Given the description of an element on the screen output the (x, y) to click on. 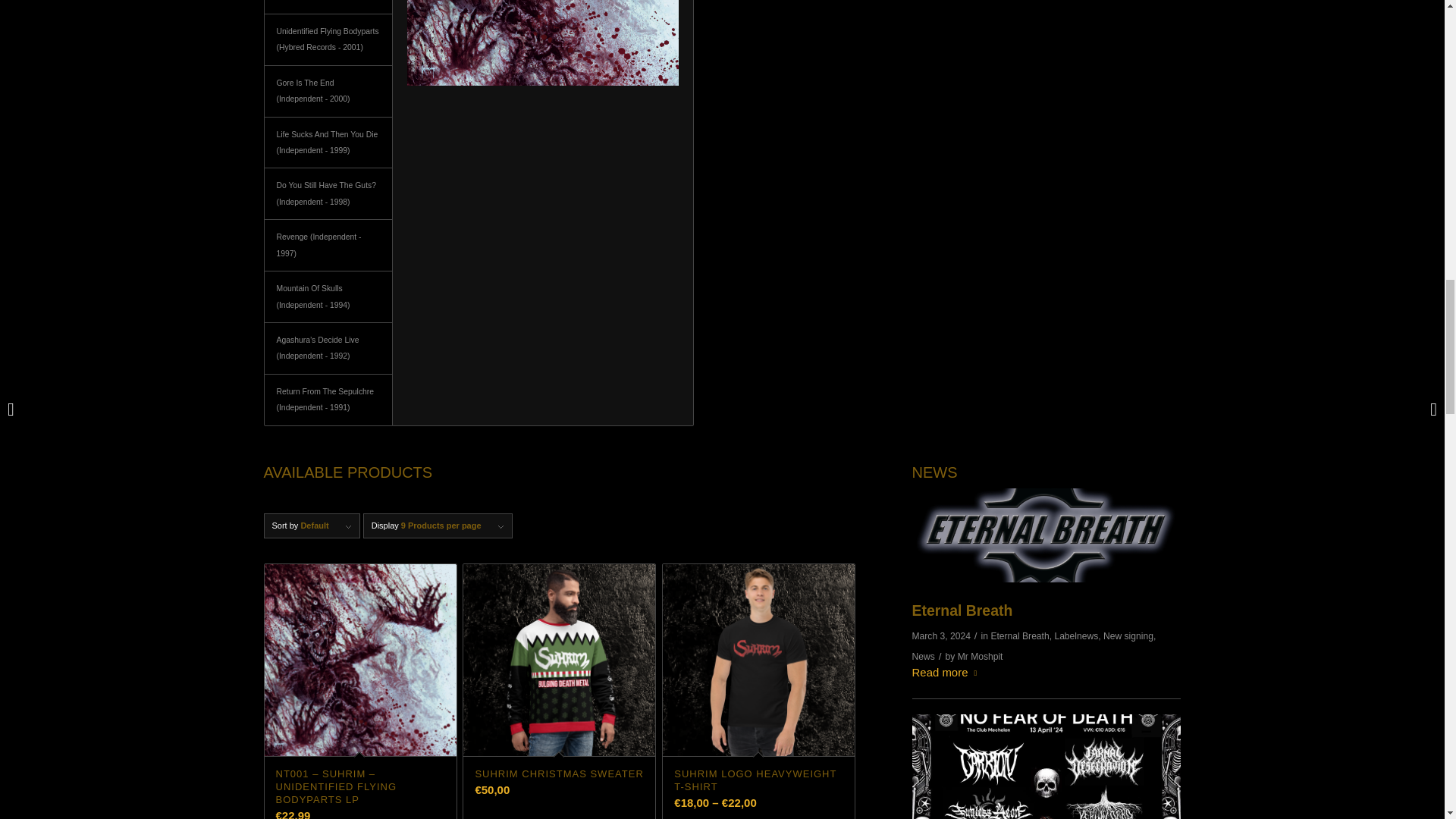
Permanent Link: Eternal Breath (962, 610)
NFOD (1046, 766)
Posts by Mr Moshpit (980, 655)
Eternal Breath band logo (1046, 535)
